Given the description of an element on the screen output the (x, y) to click on. 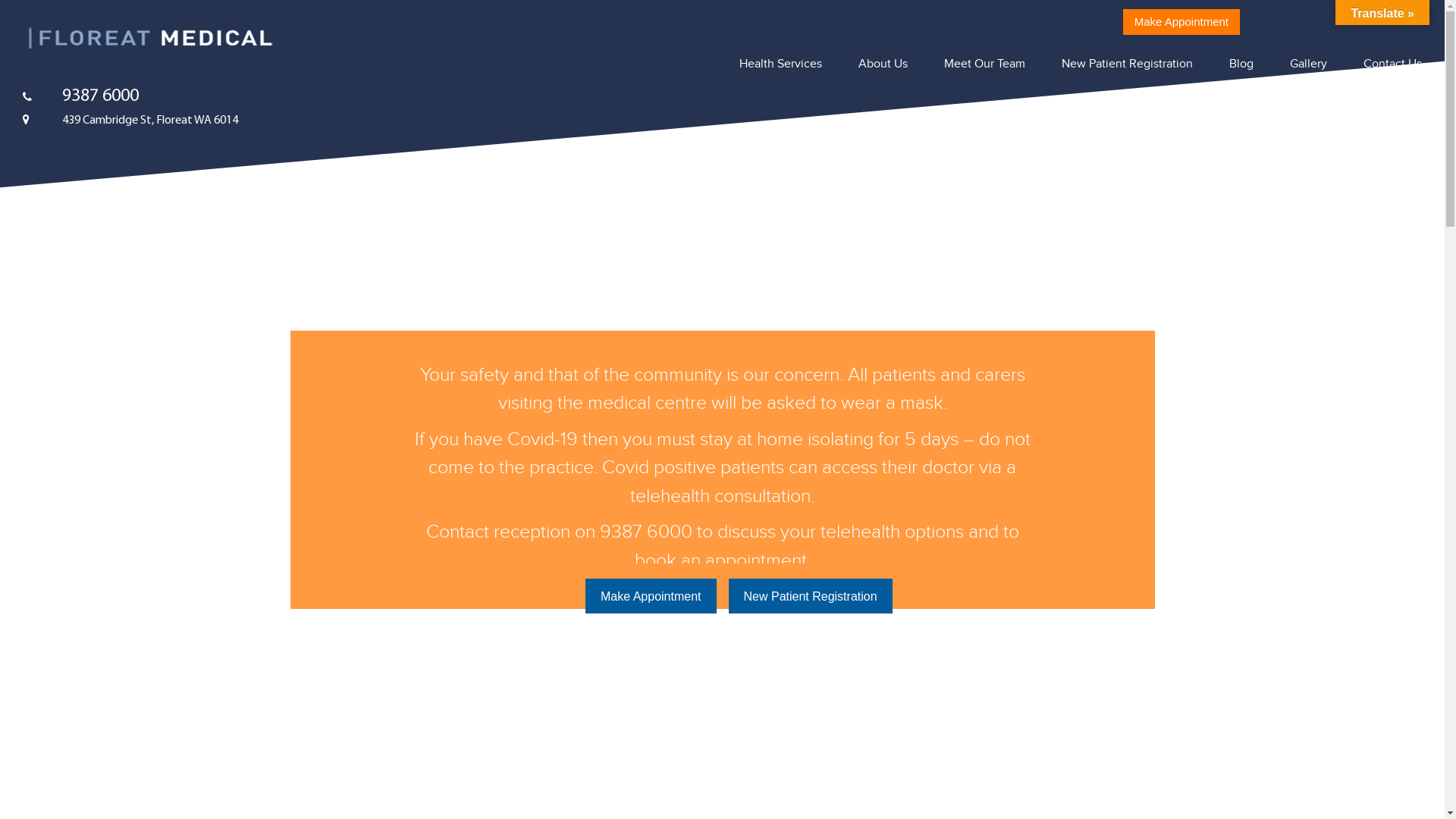
439 Cambridge St, Floreat WA 6014 Element type: text (130, 120)
New Patient Registration Element type: text (809, 595)
About Us Element type: text (882, 63)
New Patient Registration Element type: text (1126, 63)
Make Appointment Element type: text (1181, 21)
FLOREAT MEDICAL Element type: hover (149, 38)
Health Services Element type: text (780, 63)
Contact Us Element type: text (1392, 63)
Meet Our Team Element type: text (984, 63)
9387 6000 Element type: text (80, 96)
Make Appointment Element type: text (650, 595)
Gallery Element type: text (1308, 63)
Blog Element type: text (1241, 63)
